Given the description of an element on the screen output the (x, y) to click on. 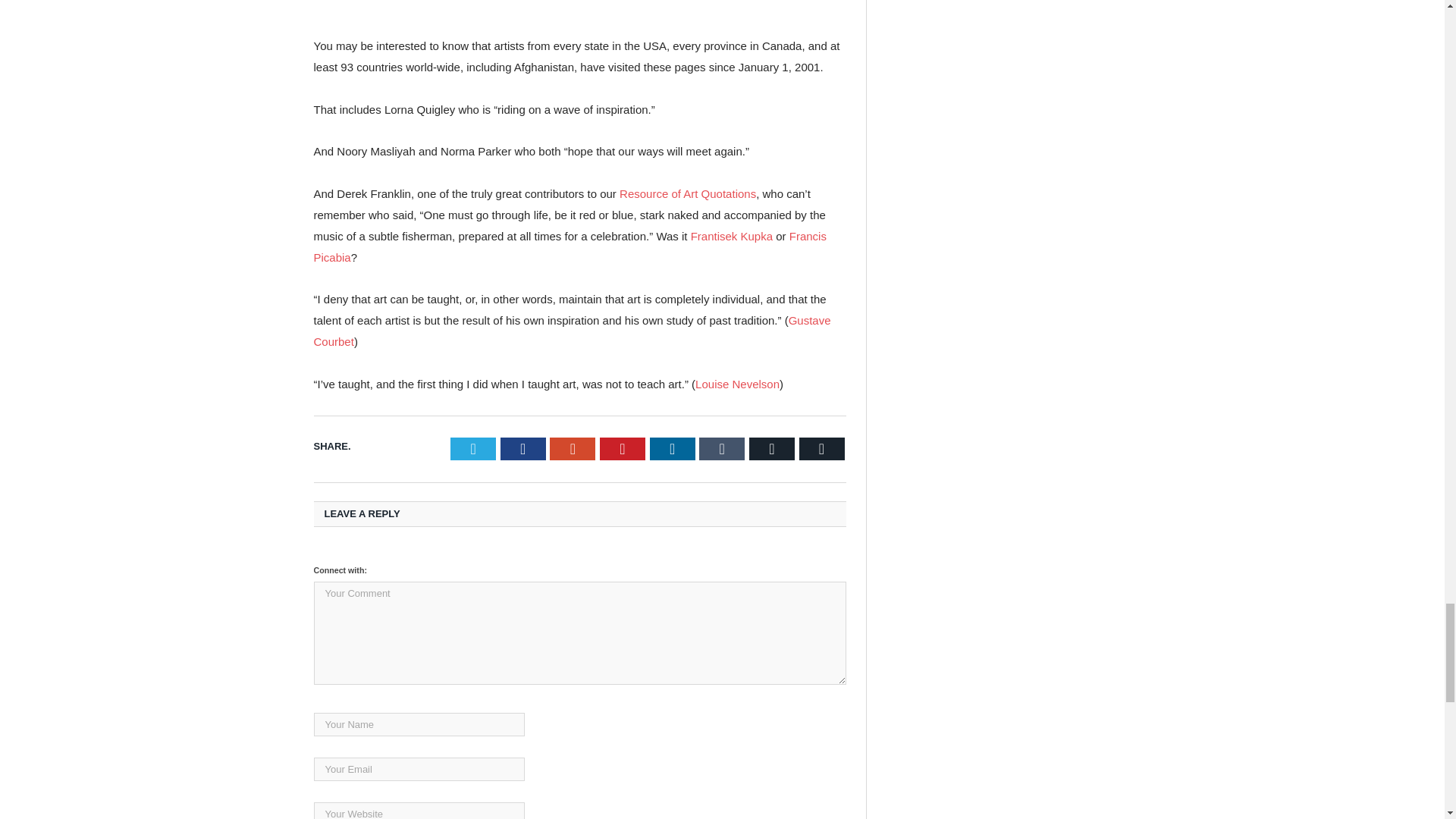
Frantisek Kupka (731, 236)
Resource of Art Quotations (687, 193)
Share on LinkedIn (672, 448)
Pinterest (622, 448)
Francis Picabia (570, 246)
Print (821, 448)
Share via Email (771, 448)
LinkedIn (672, 448)
Tumblr (721, 448)
Share on Pinterest (622, 448)
Email (771, 448)
Share on Facebook (523, 448)
Share on Tumblr (721, 448)
Twitter (472, 448)
Tweet It (472, 448)
